Given the description of an element on the screen output the (x, y) to click on. 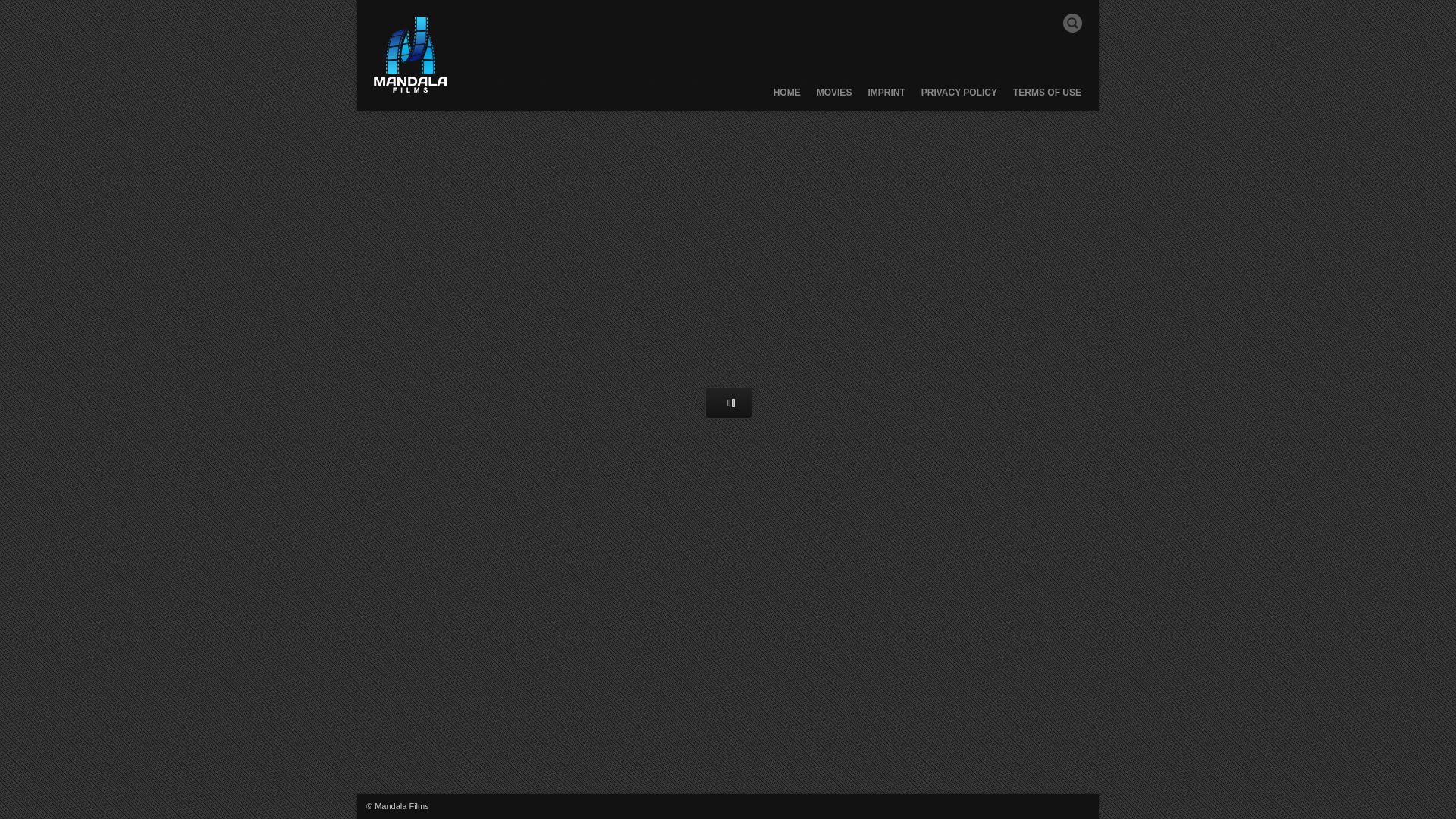
MOVIES (833, 97)
PRIVACY POLICY (958, 97)
Mandala Films (410, 55)
IMPRINT (885, 97)
HOME (787, 97)
TERMS OF USE (1046, 97)
